Given the description of an element on the screen output the (x, y) to click on. 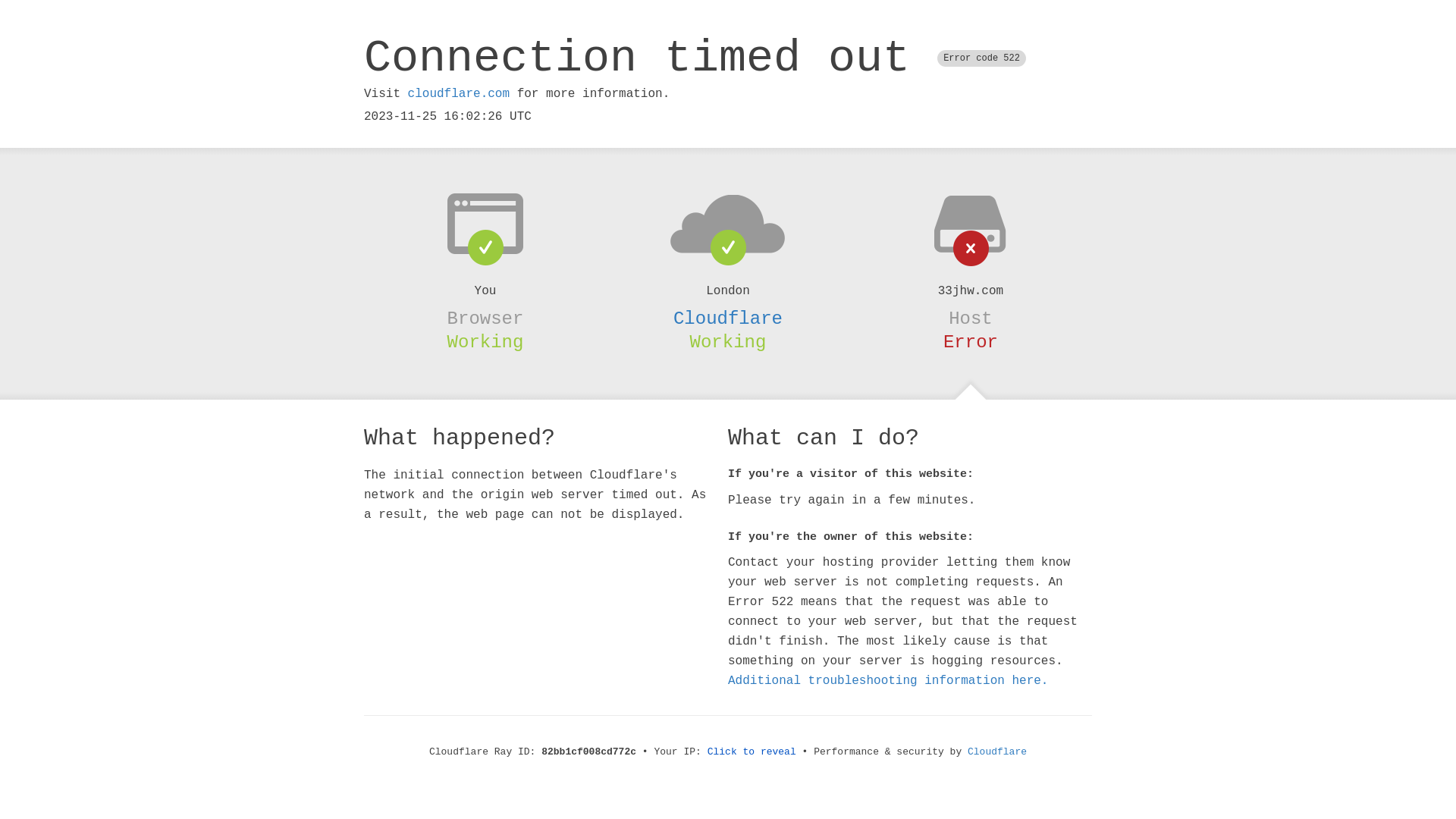
Cloudflare Element type: text (727, 318)
cloudflare.com Element type: text (458, 93)
Cloudflare Element type: text (996, 751)
Additional troubleshooting information here. Element type: text (888, 680)
Click to reveal Element type: text (751, 751)
